Given the description of an element on the screen output the (x, y) to click on. 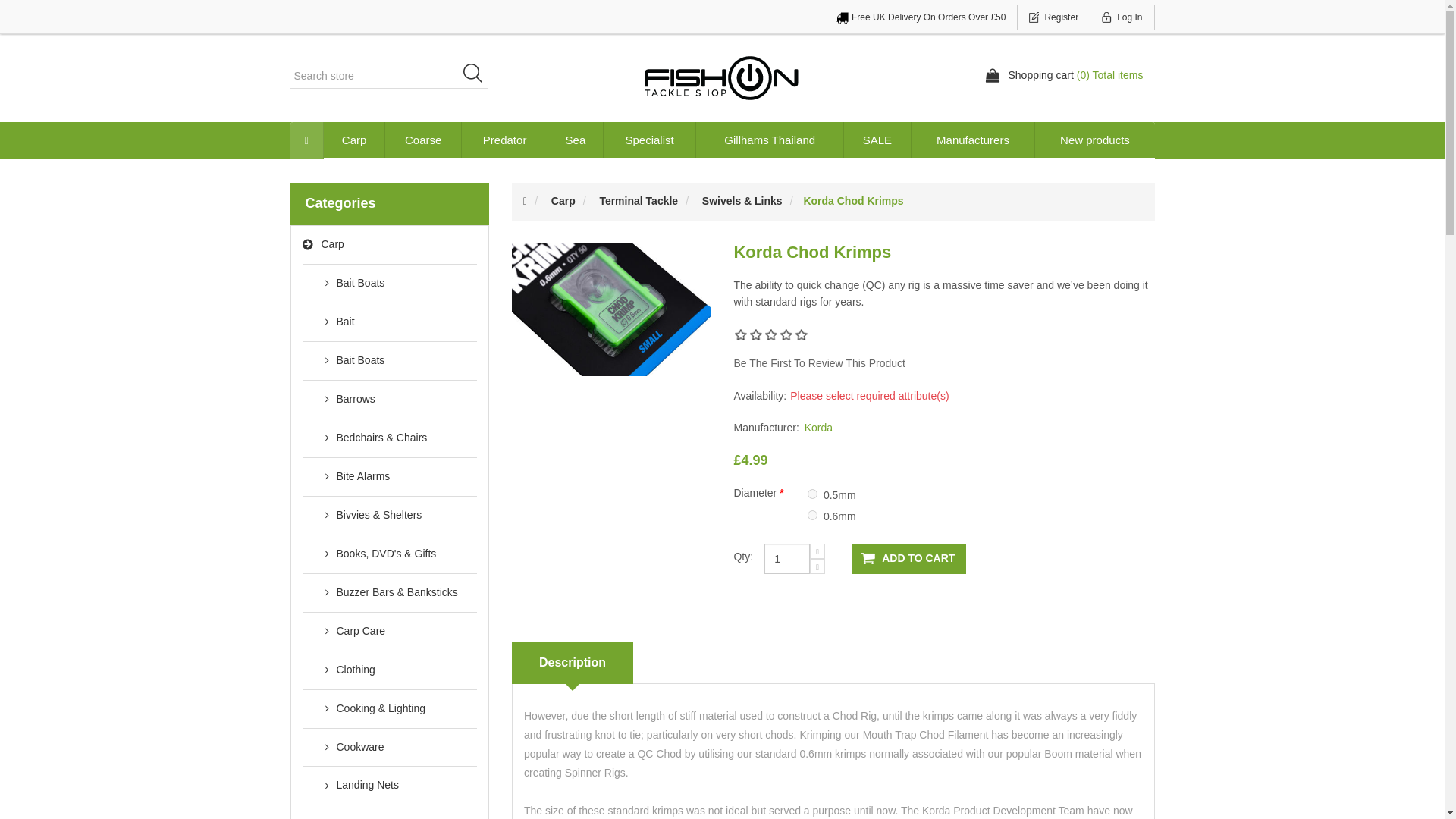
Log In (1122, 17)
Register (1053, 17)
1 (786, 558)
Carp (354, 140)
11735 (812, 515)
Add to cart (908, 558)
Picture of Korda Chod Krimps (611, 309)
Picture of Korda Chod Krimps (611, 308)
11734 (812, 493)
